Given the description of an element on the screen output the (x, y) to click on. 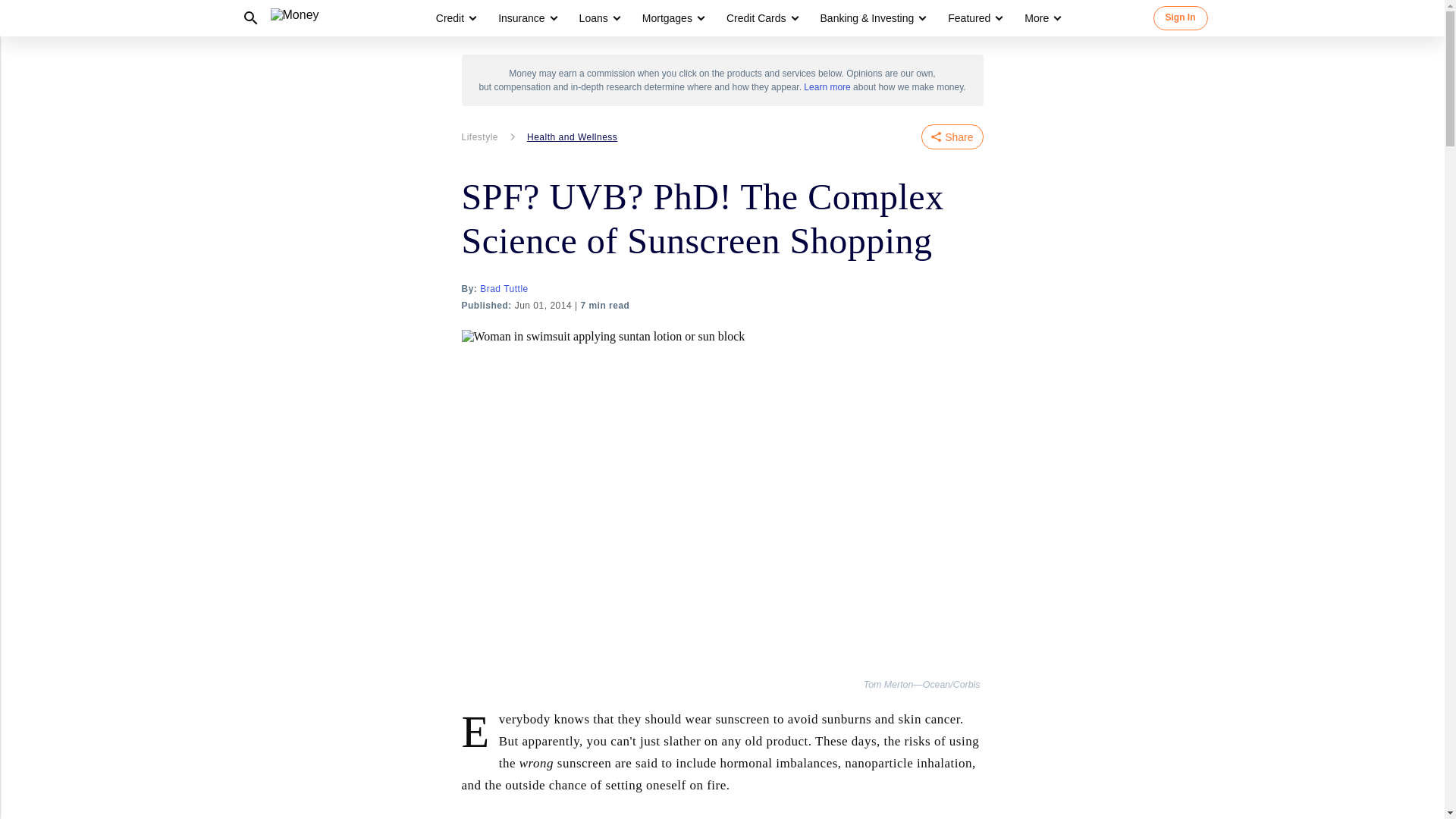
Credit (449, 18)
Insurance (526, 18)
Insurance (520, 18)
Credit (455, 18)
Mortgages (667, 18)
Loans (598, 18)
Credit Cards (761, 18)
Credit Cards (756, 18)
Mortgages (672, 18)
Loans (593, 18)
